Given the description of an element on the screen output the (x, y) to click on. 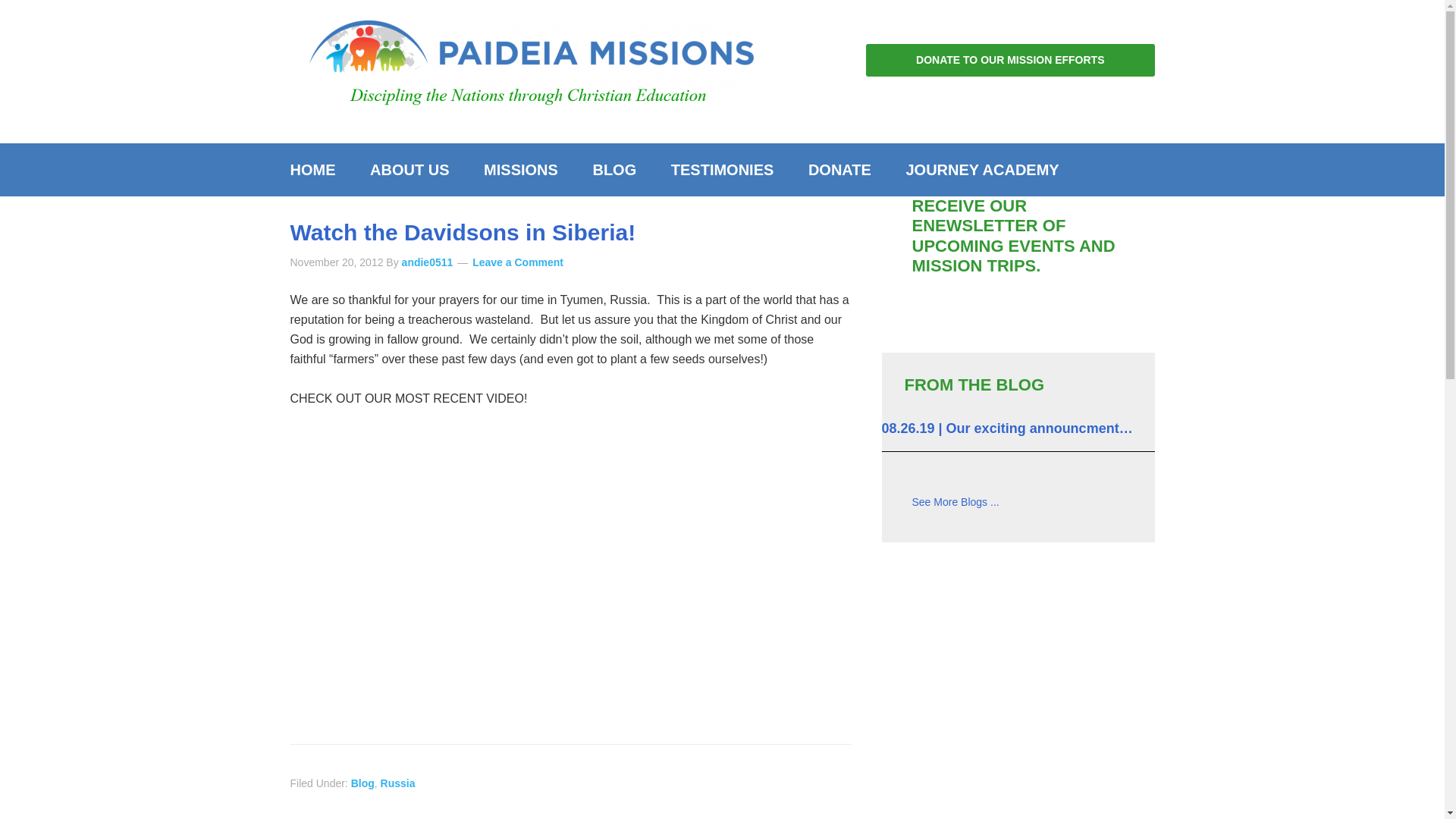
HOME (319, 169)
DONATE (839, 169)
Leave a Comment (517, 262)
TESTIMONIES (722, 169)
Blog (954, 501)
BLOG (613, 169)
DONATE TO OUR MISSION EFFORTS (1010, 60)
andie0511 (426, 262)
See More Blogs ... (954, 501)
Paideia Missions (527, 64)
